Given the description of an element on the screen output the (x, y) to click on. 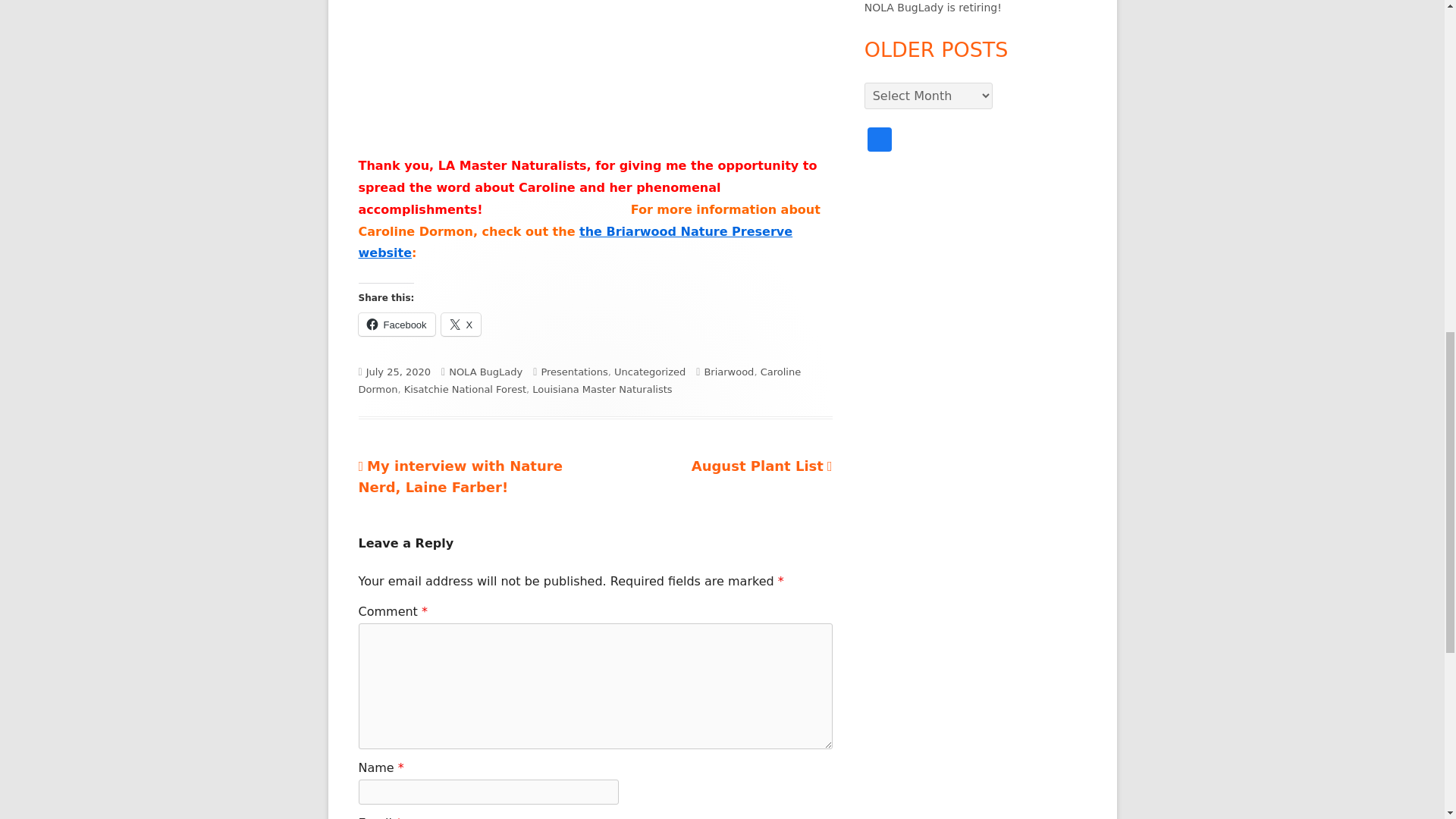
Kisatchie National Forest (461, 323)
Presentations (464, 389)
Click to share on Facebook (573, 371)
Click to share on X (395, 323)
the Briarwood Nature Preserve website (761, 465)
July 25, 2020 (461, 323)
